Given the description of an element on the screen output the (x, y) to click on. 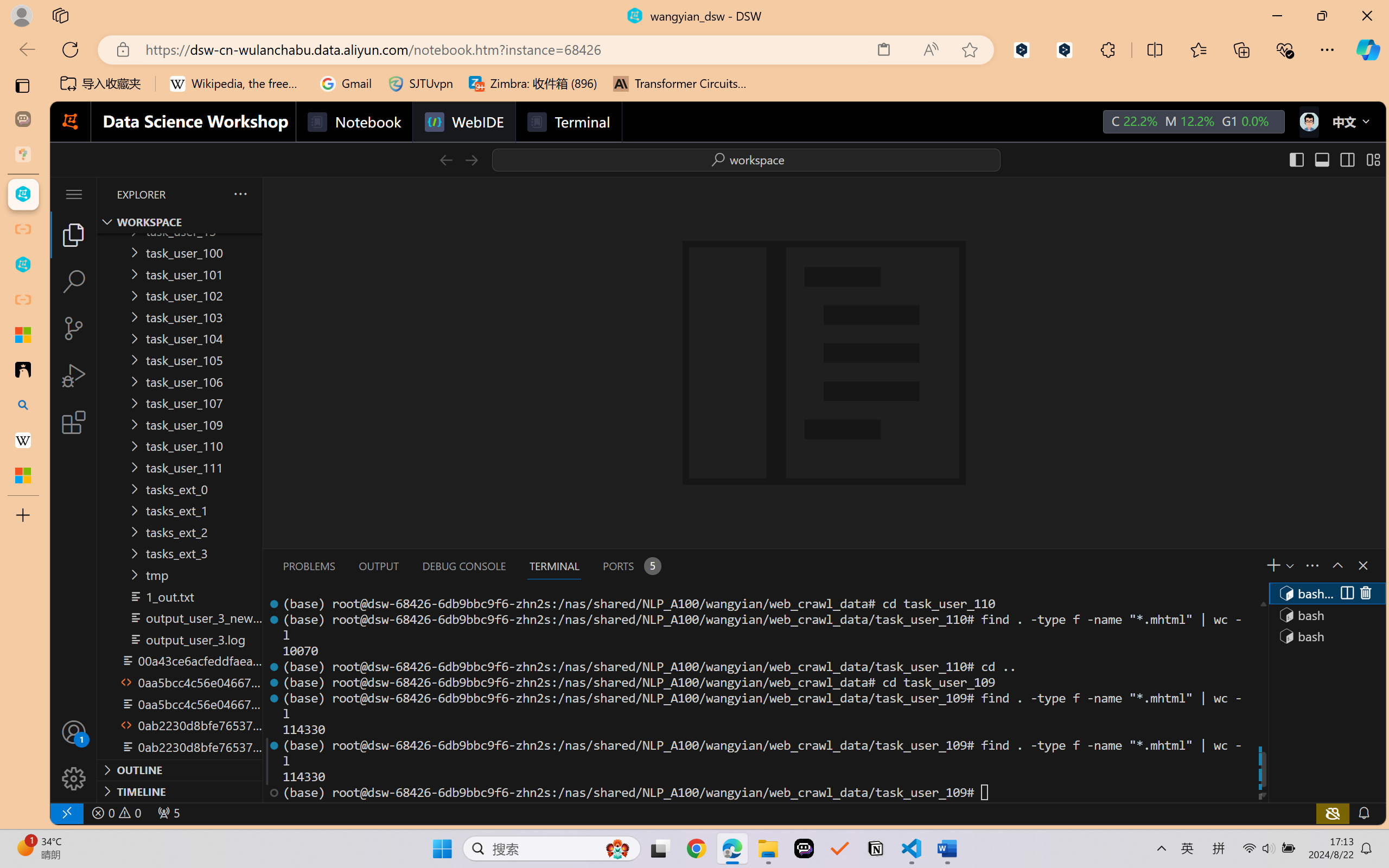
Notebook (353, 121)
Explorer Section: workspace (179, 221)
Problems (Ctrl+Shift+M) (308, 565)
Explorer (Ctrl+Shift+E) (73, 234)
Wikipedia, the free encyclopedia (236, 83)
Terminal 2 bash (1326, 614)
Toggle Panel (Ctrl+J) (1320, 159)
Class: xterm-link-layer (761, 697)
Kill (Delete) (1365, 593)
Search (Ctrl+Shift+F) (73, 281)
Accounts - Sign in requested (73, 732)
Launch Profile... (1288, 565)
Terminal 1 bash (1326, 593)
